Given the description of an element on the screen output the (x, y) to click on. 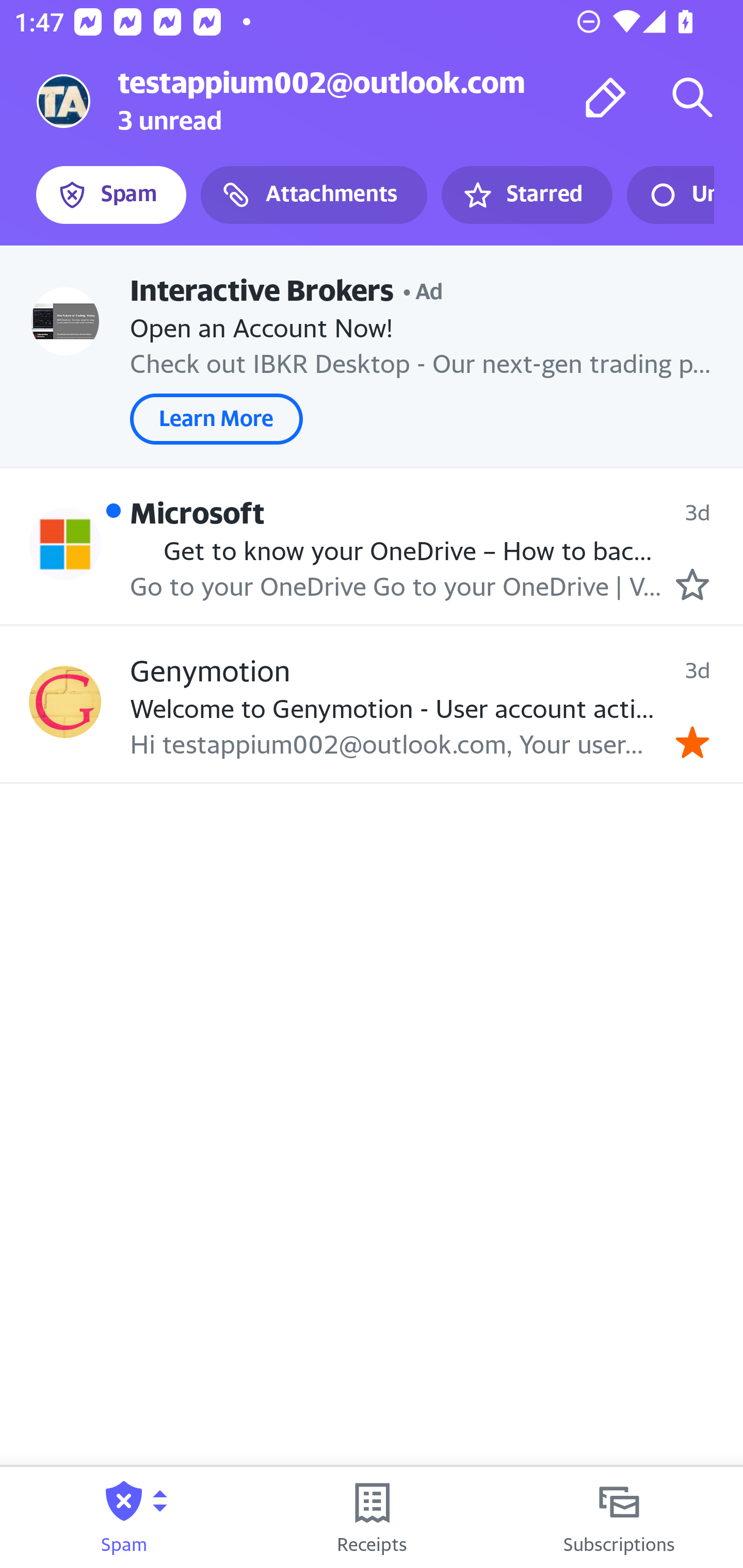
Compose (605, 97)
Search mail (692, 97)
Attachments (313, 195)
Starred (526, 195)
• Ad (422, 289)
Profile
Microsoft (64, 544)
Mark as starred. (692, 584)
Profile
Genymotion (64, 702)
Remove star. (692, 742)
Spam Folder picker (123, 1517)
Receipts (371, 1517)
Subscriptions (619, 1517)
